Given the description of an element on the screen output the (x, y) to click on. 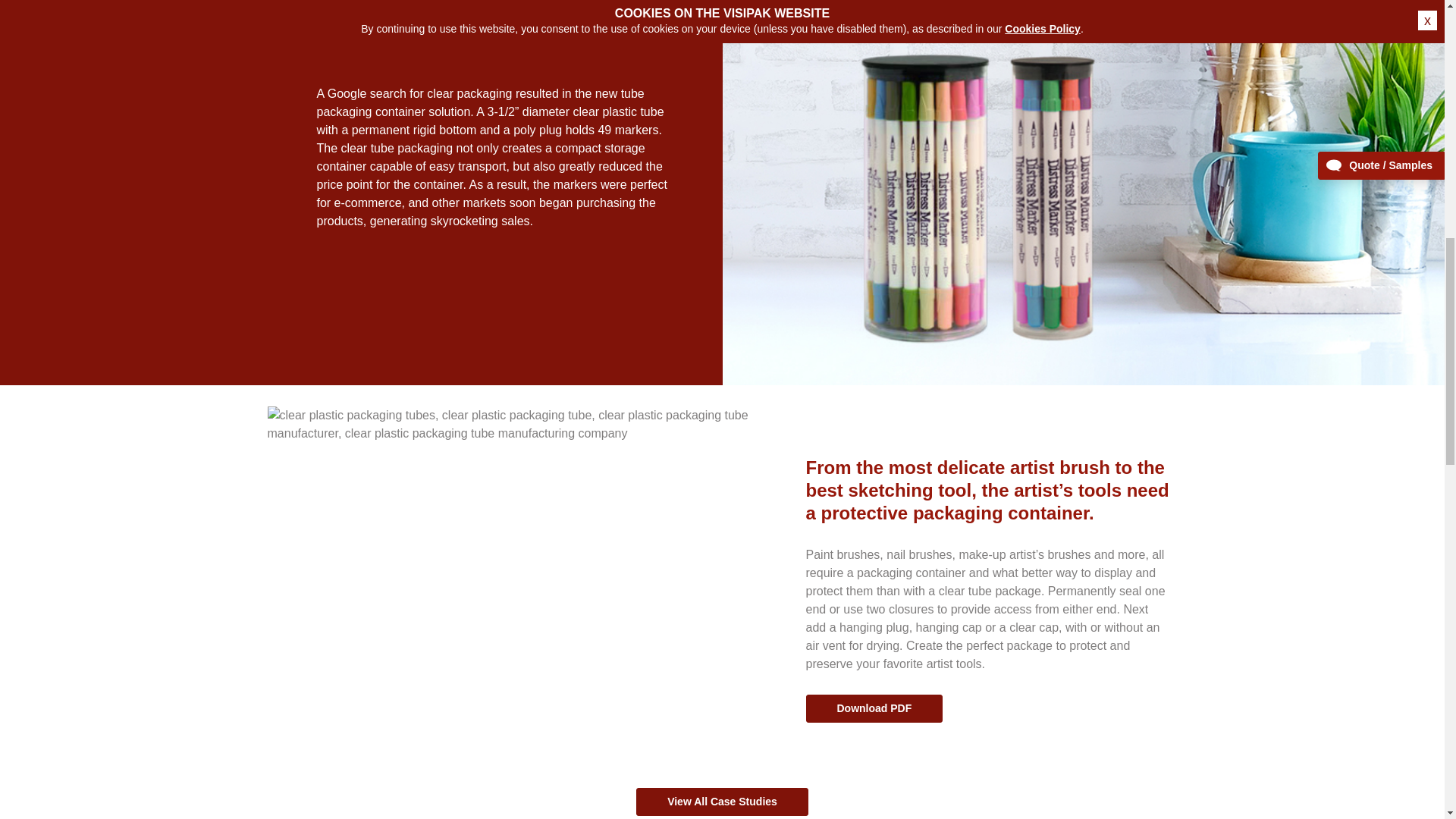
Download PDF (873, 708)
